Given the description of an element on the screen output the (x, y) to click on. 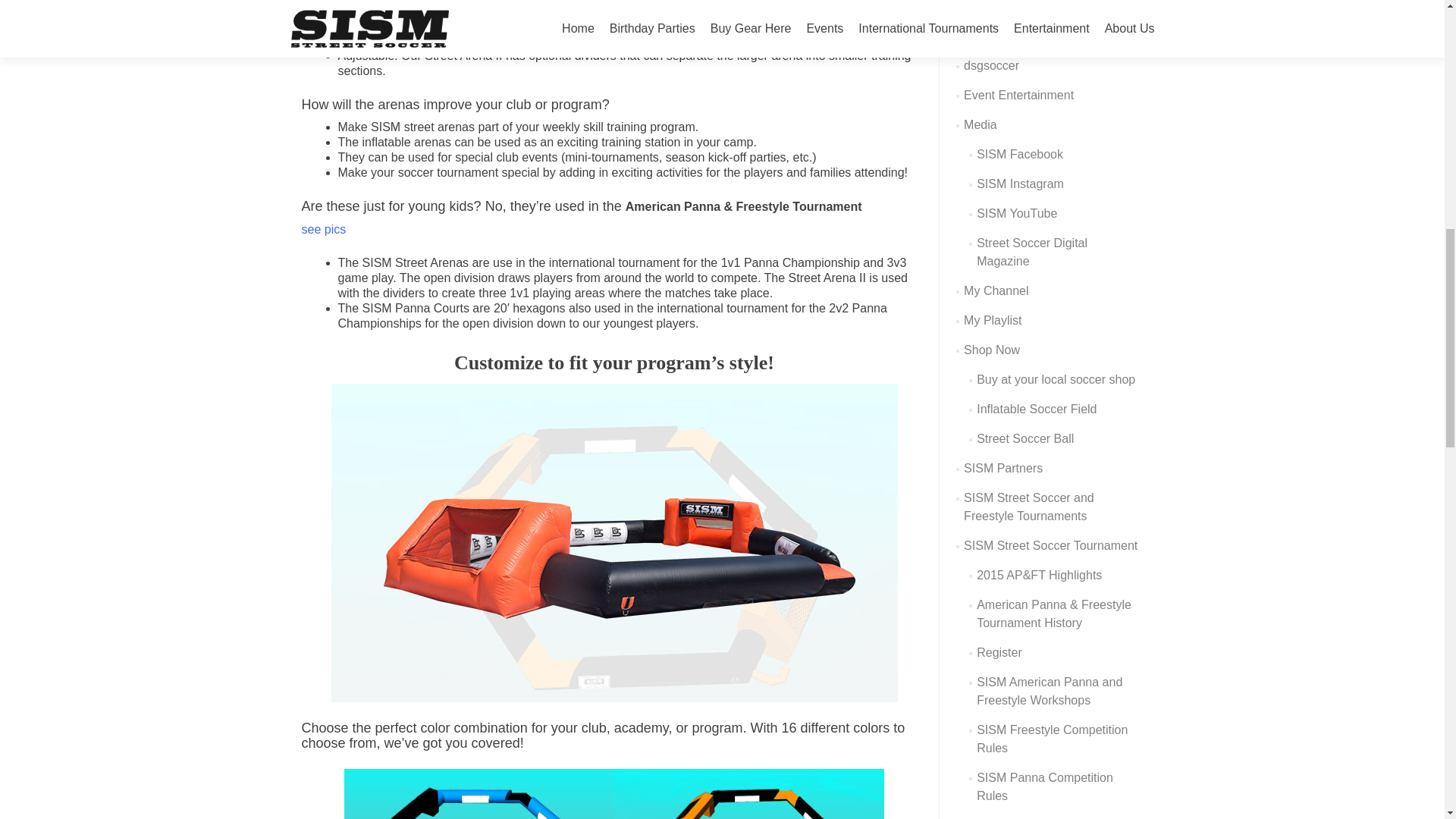
see pics (323, 228)
